Given the description of an element on the screen output the (x, y) to click on. 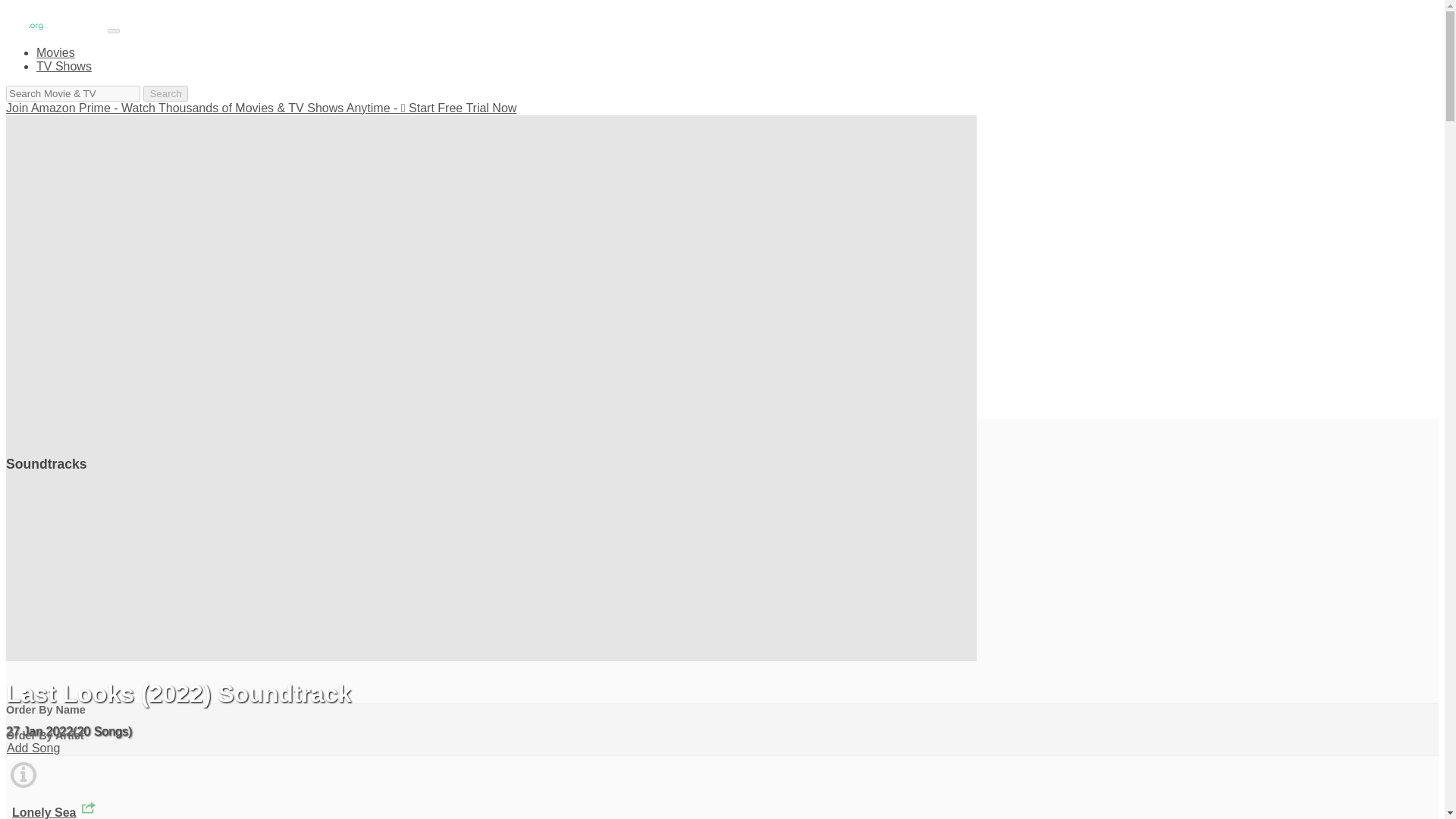
TV Shows (63, 65)
Lonely Sea (43, 812)
Movies (55, 51)
Add Song (33, 748)
Search (164, 93)
